Given the description of an element on the screen output the (x, y) to click on. 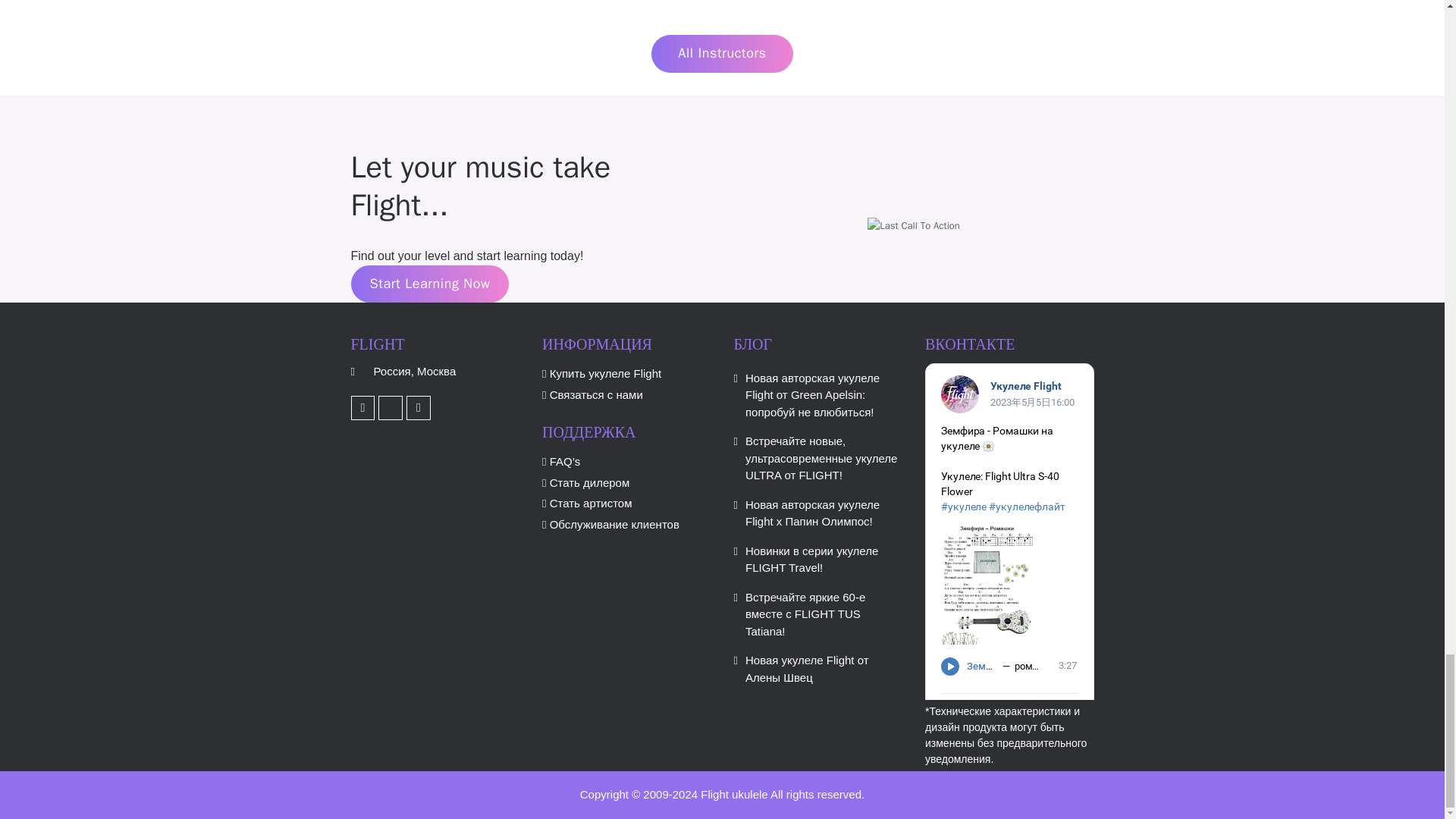
Start Learning Now (429, 284)
Youtube (362, 407)
All Instructors (721, 53)
